Given the description of an element on the screen output the (x, y) to click on. 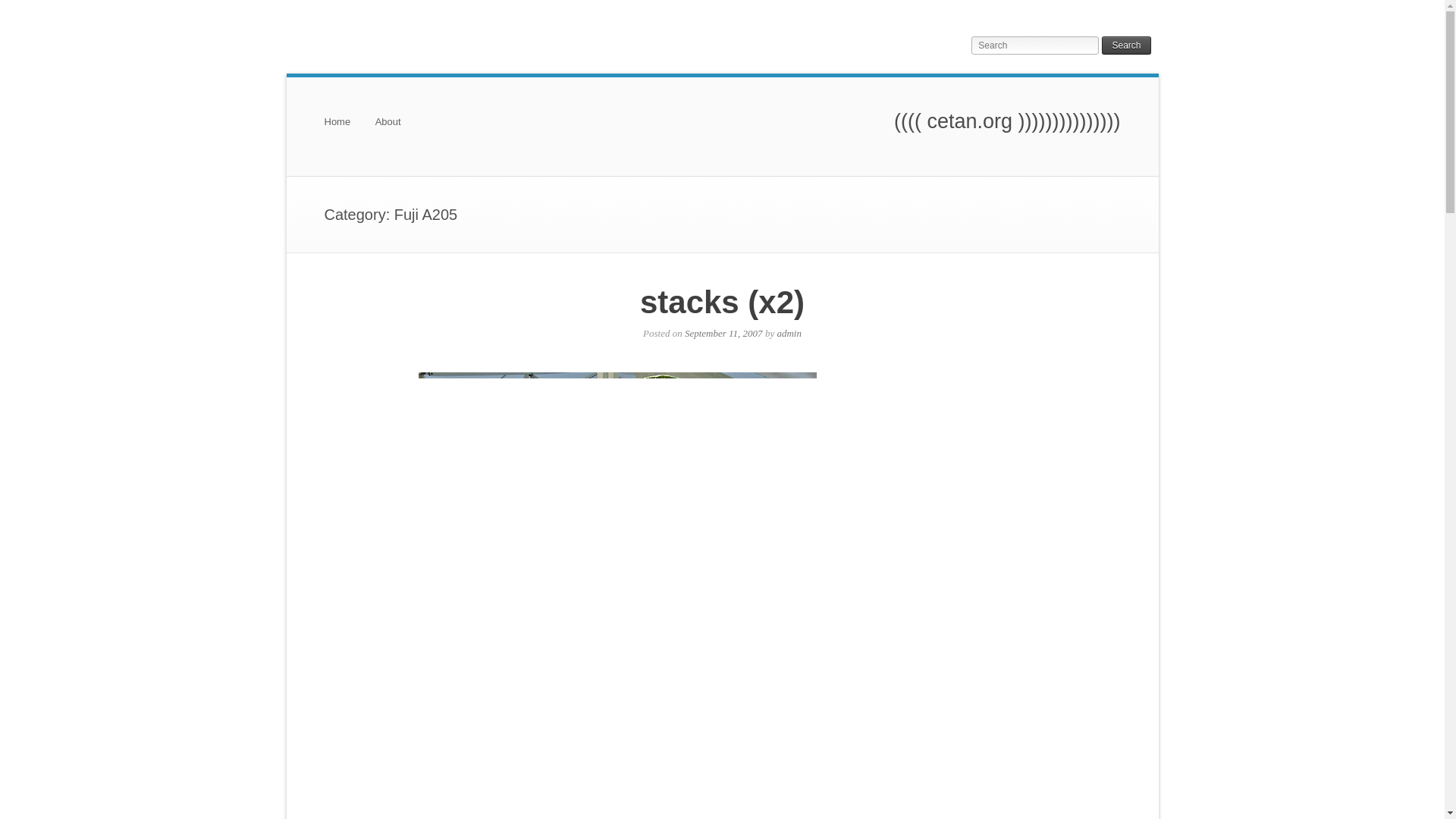
12:00 am (723, 333)
Home (337, 129)
Skip to content (357, 129)
Search (1126, 45)
admin (789, 333)
View all posts by admin (789, 333)
Search (1126, 45)
September 11, 2007 (723, 333)
Skip to content (357, 129)
About (388, 129)
